Given the description of an element on the screen output the (x, y) to click on. 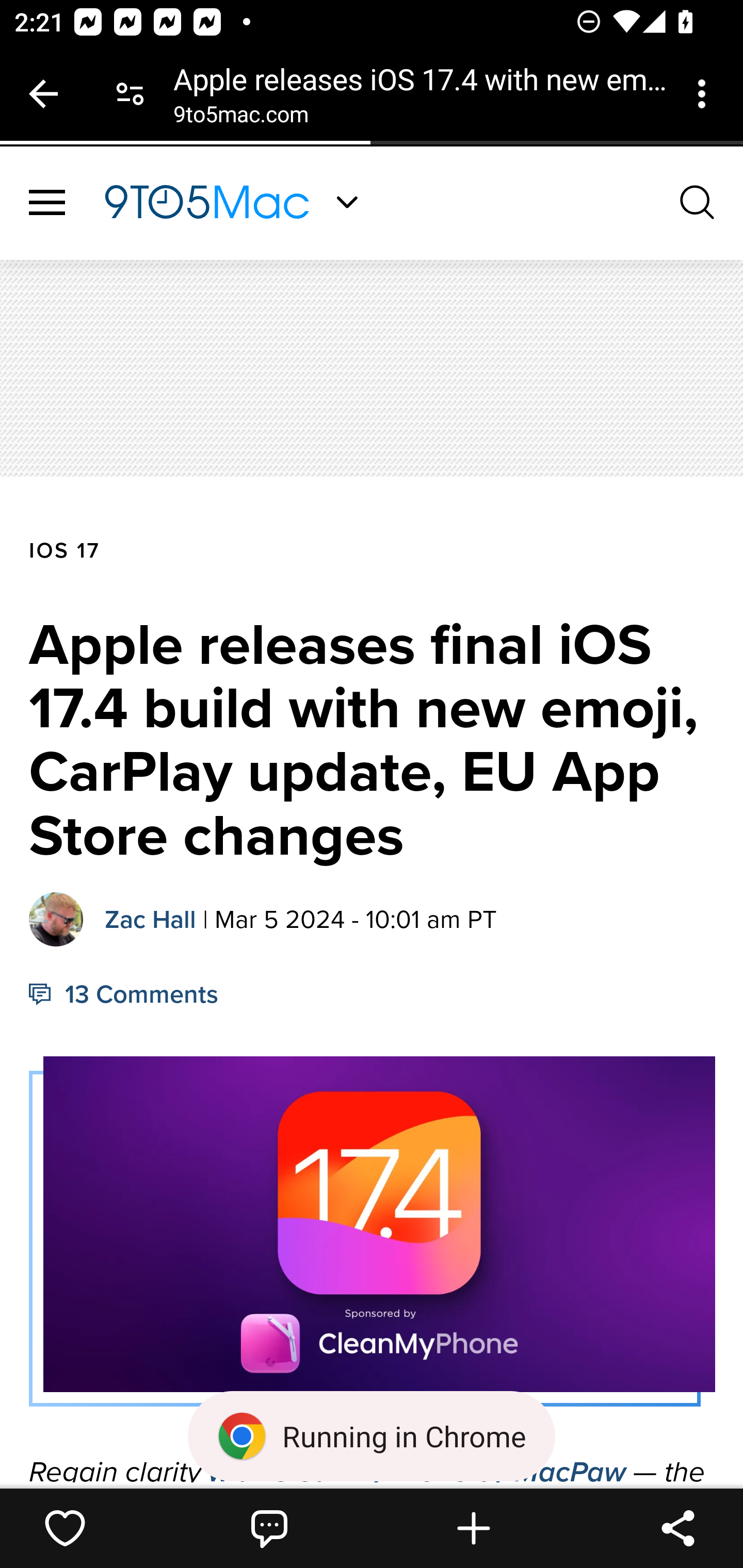
Close tab (43, 93)
Customize and control Google Chrome (705, 93)
Connection is secure (129, 93)
9to5mac.com (240, 117)
Toggle main menu (46, 203)
Toggle search form (697, 201)
Switch site (346, 202)
IOS 17 (64, 550)
iPhone 14 (316, 846)
iPhone 15 (316, 913)
Avatar for Zac Hall (56, 919)
Zac Hall (150, 918)
13 Comments (123, 994)
Like (64, 1528)
Write a comment… (269, 1528)
Flip into Magazine (473, 1528)
Share (677, 1528)
